Given the description of an element on the screen output the (x, y) to click on. 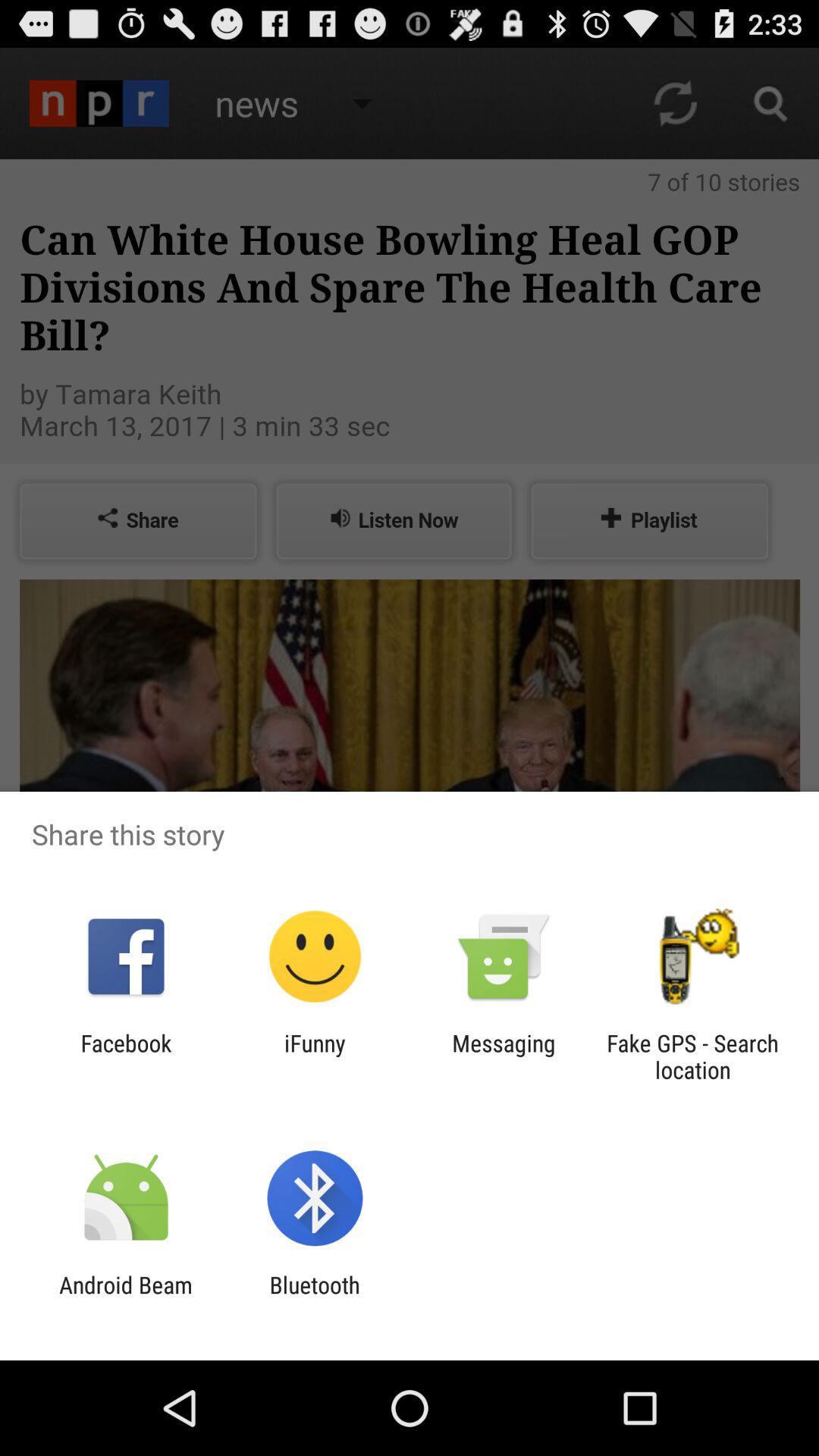
turn on item next to the ifunny item (503, 1056)
